Given the description of an element on the screen output the (x, y) to click on. 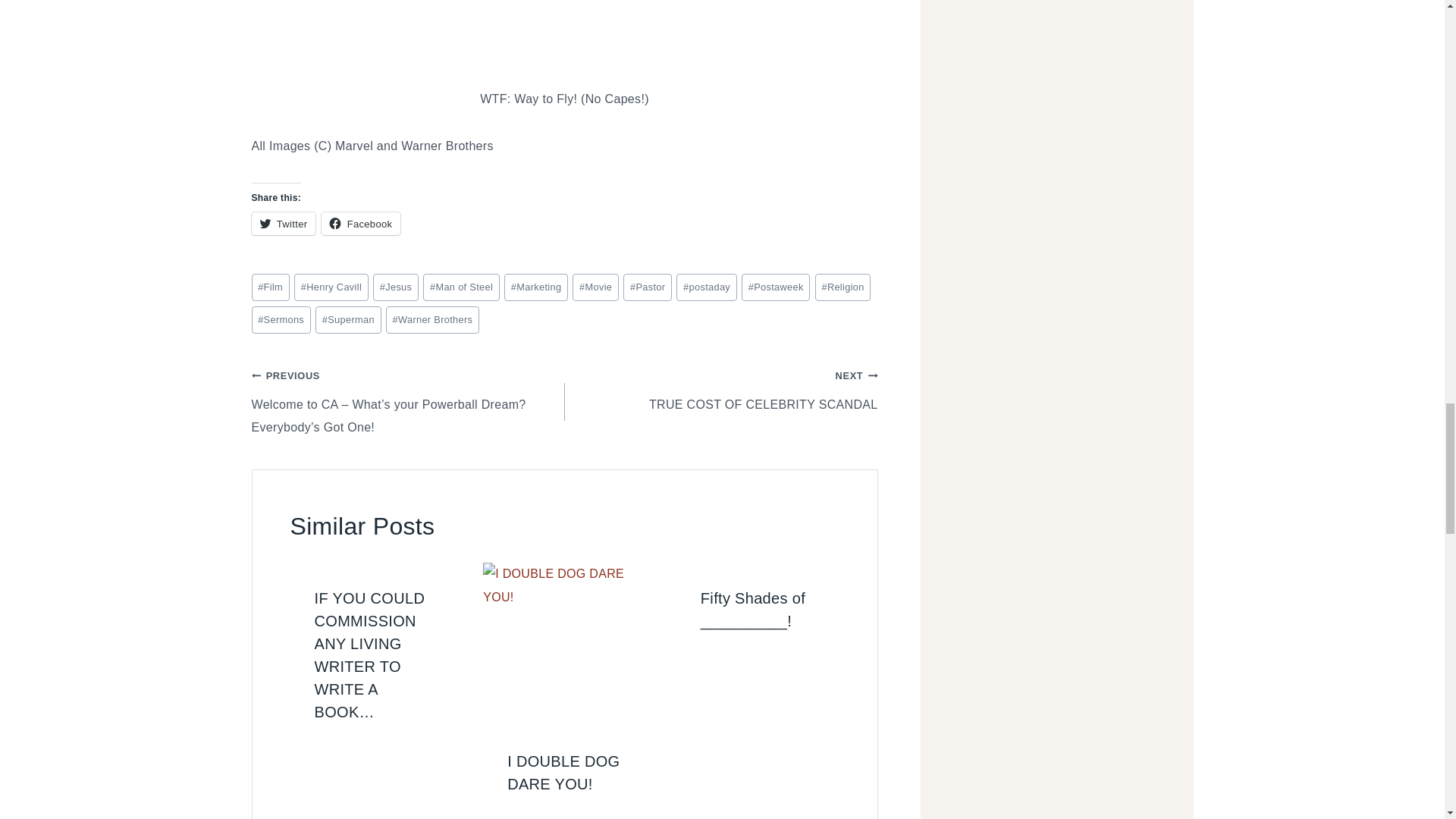
Film (270, 287)
Henry Cavill (331, 287)
Jesus (395, 287)
Marketing (535, 287)
Man of Steel (461, 287)
Postaweek (775, 287)
Click to share on Facebook (360, 223)
Twitter (283, 223)
Pastor (647, 287)
postaday (706, 287)
